Given the description of an element on the screen output the (x, y) to click on. 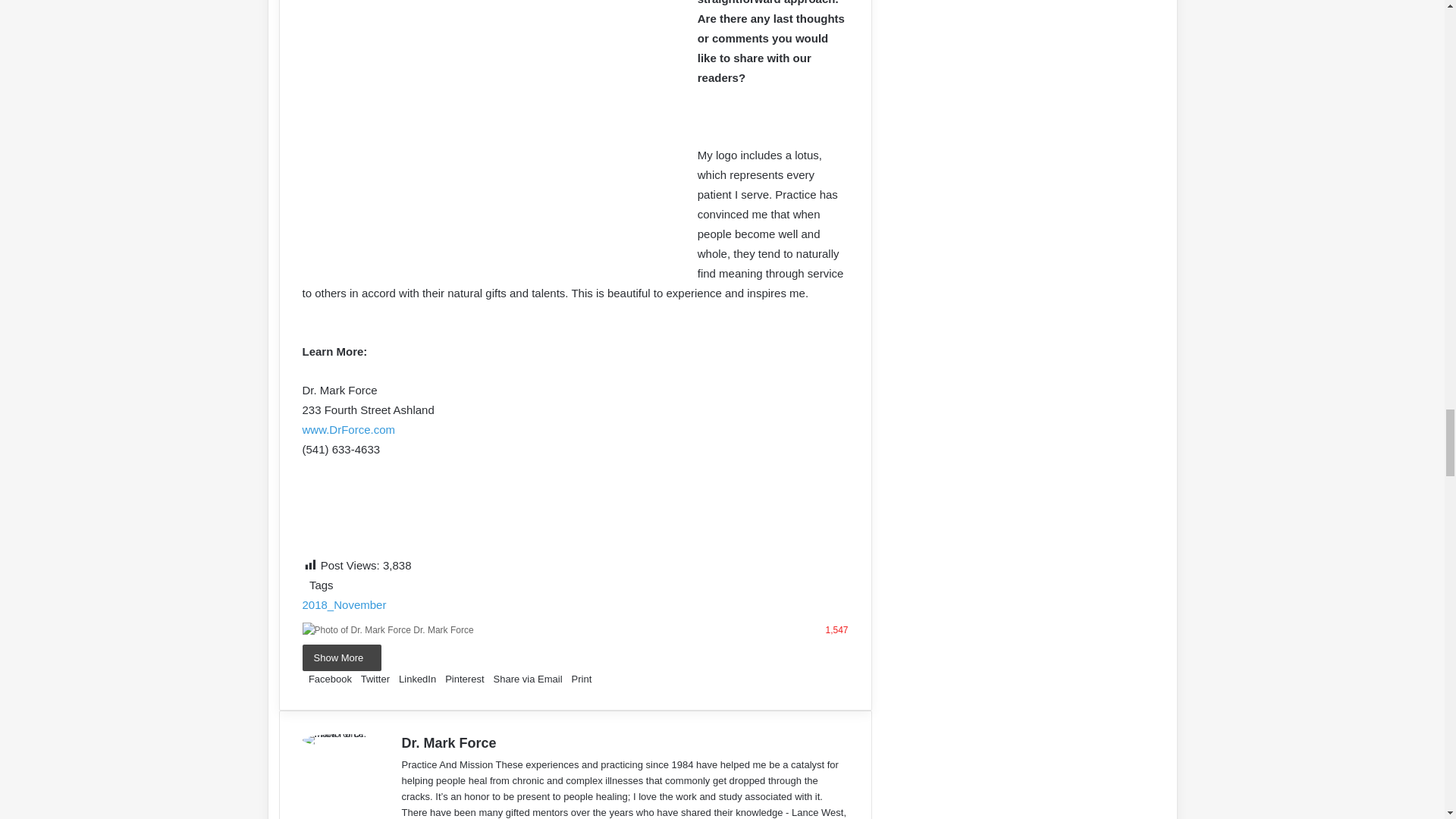
LinkedIn (416, 678)
Share via Email (525, 678)
Facebook (327, 678)
www.DrForce.com (347, 429)
LinkedIn (416, 678)
Facebook (327, 678)
Pinterest (462, 678)
Pinterest (462, 678)
Dr. Mark Force (443, 629)
Print (577, 678)
